Given the description of an element on the screen output the (x, y) to click on. 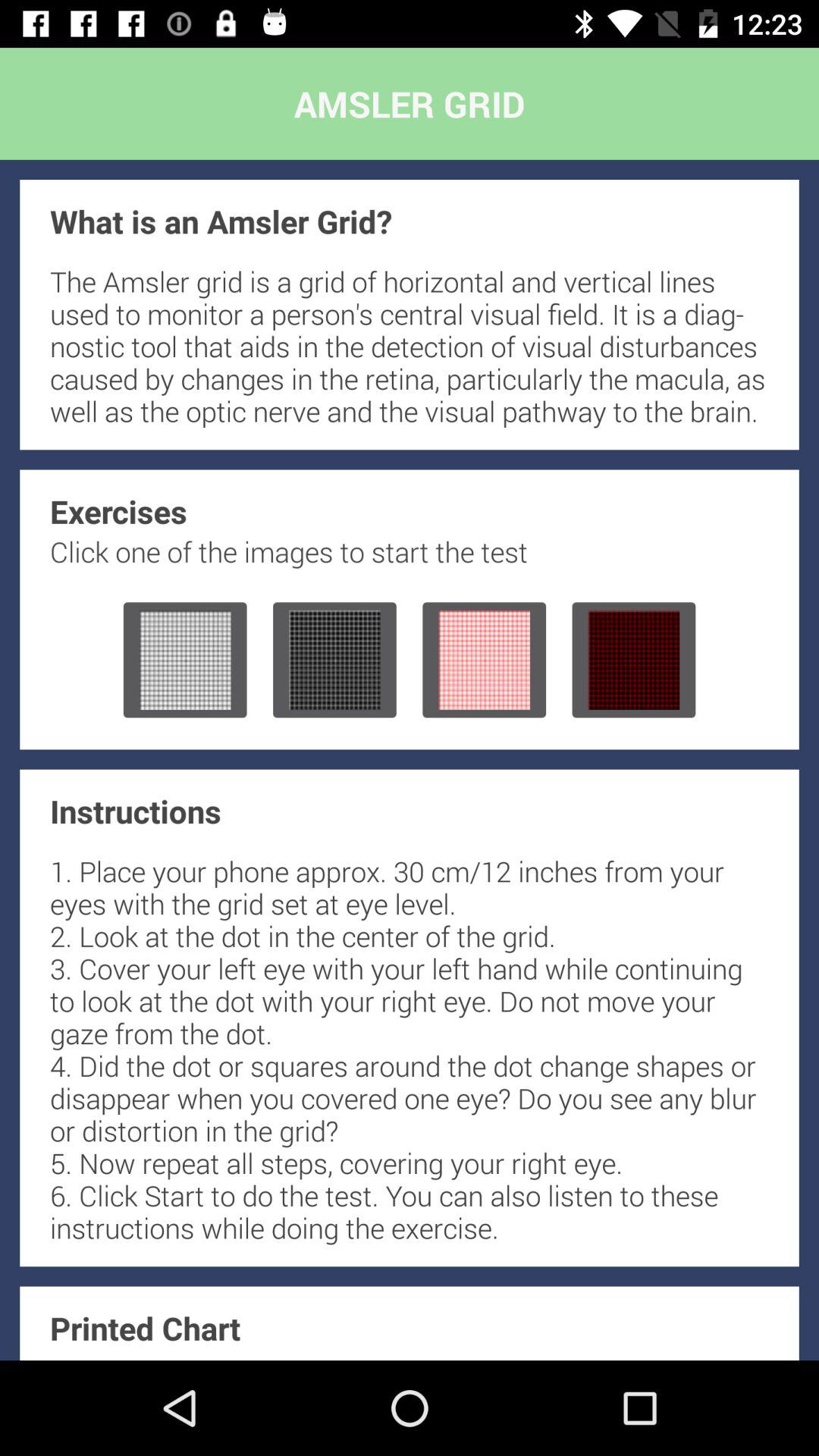
select pink excercizes (483, 659)
